Given the description of an element on the screen output the (x, y) to click on. 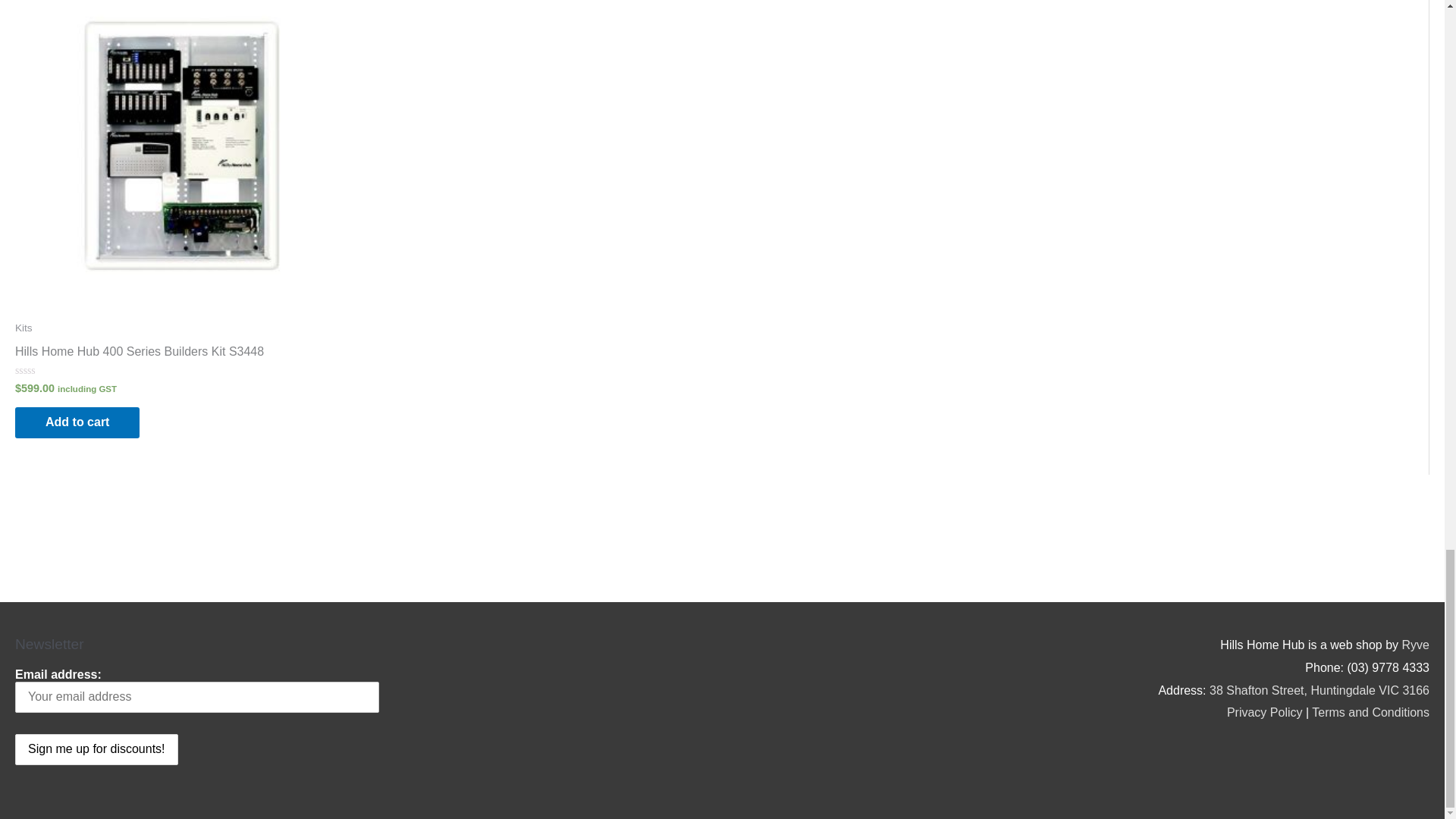
Sign me up for discounts! (95, 748)
Hills Home Hub 400 Series Builders Kit S3448 (138, 354)
Terms and Conditions (1370, 712)
Privacy Policy (1265, 712)
Add to cart (76, 422)
Ryve (1415, 644)
38 Shafton Street, Huntingdale VIC 3166 (1319, 689)
Sign me up for discounts! (95, 748)
